Given the description of an element on the screen output the (x, y) to click on. 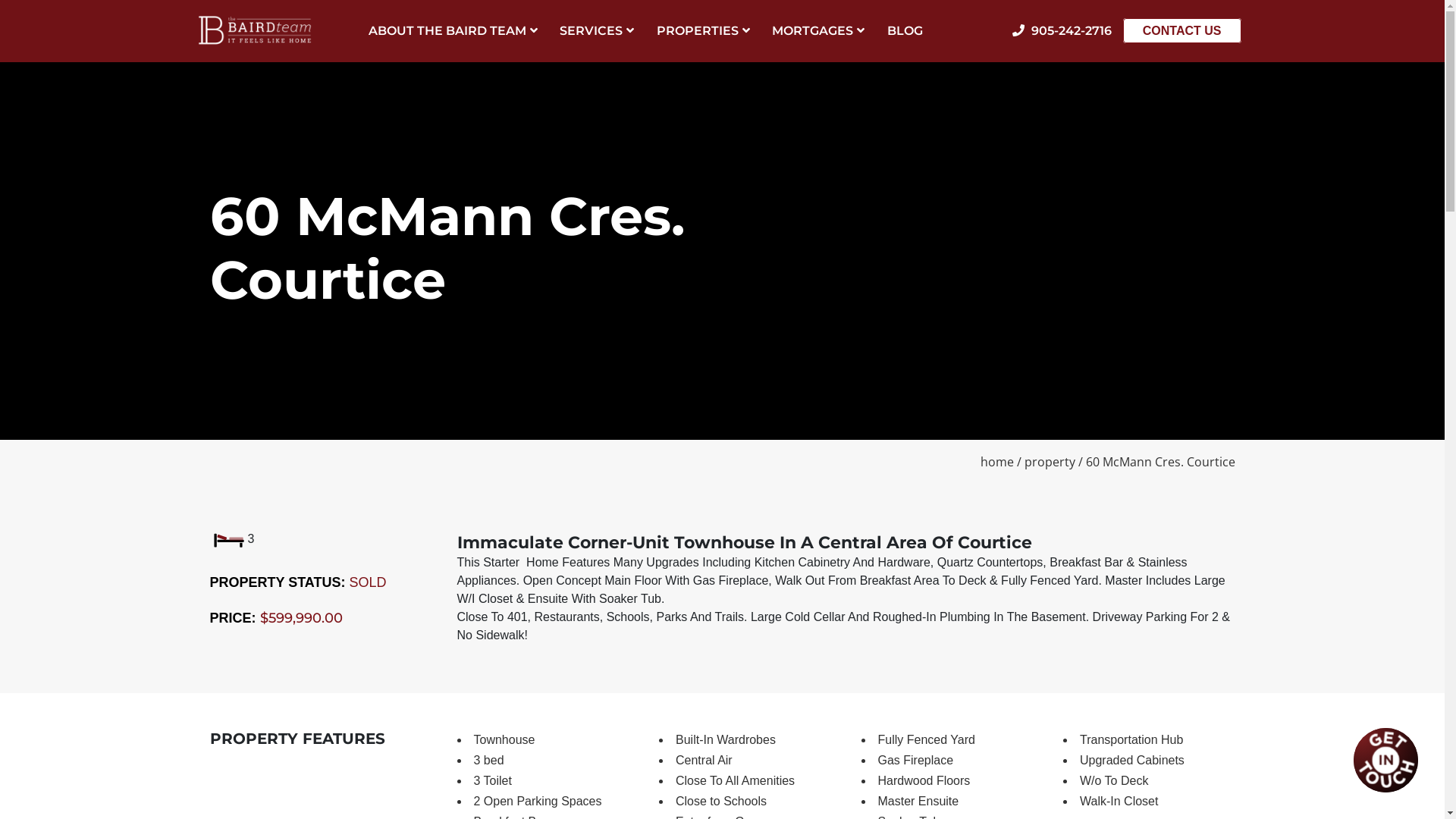
905-242-2716 Element type: text (1065, 30)
60 McMann Cres. Courtice Element type: text (1160, 461)
home Element type: text (996, 461)
PROPERTIES Element type: text (702, 41)
Bedrooms Element type: hover (228, 539)
CONTACT US Element type: text (1182, 30)
MORTGAGES Element type: text (817, 41)
BLOG Element type: text (904, 41)
property Element type: text (1048, 461)
SERVICES Element type: text (596, 41)
ABOUT THE BAIRD TEAM Element type: text (452, 41)
